Given the description of an element on the screen output the (x, y) to click on. 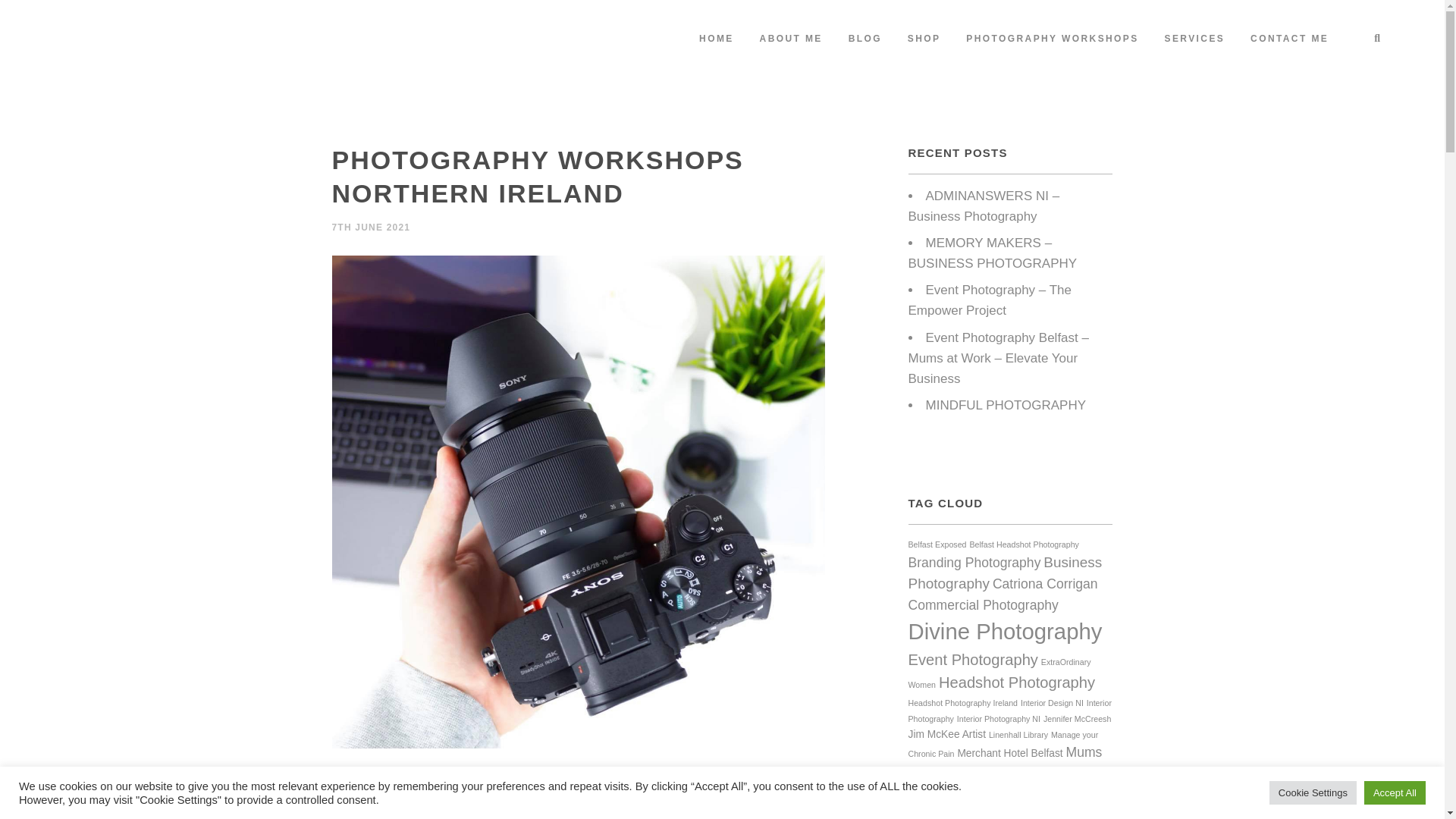
SHOP (923, 38)
Photography Workshops Northern Ireland (450, 780)
BLOG (865, 38)
SERVICES (1194, 38)
PHOTOGRAPHY WORKSHOPS (1052, 38)
ABOUT ME (791, 38)
CONTACT ME (1288, 38)
HOME (715, 38)
